Given the description of an element on the screen output the (x, y) to click on. 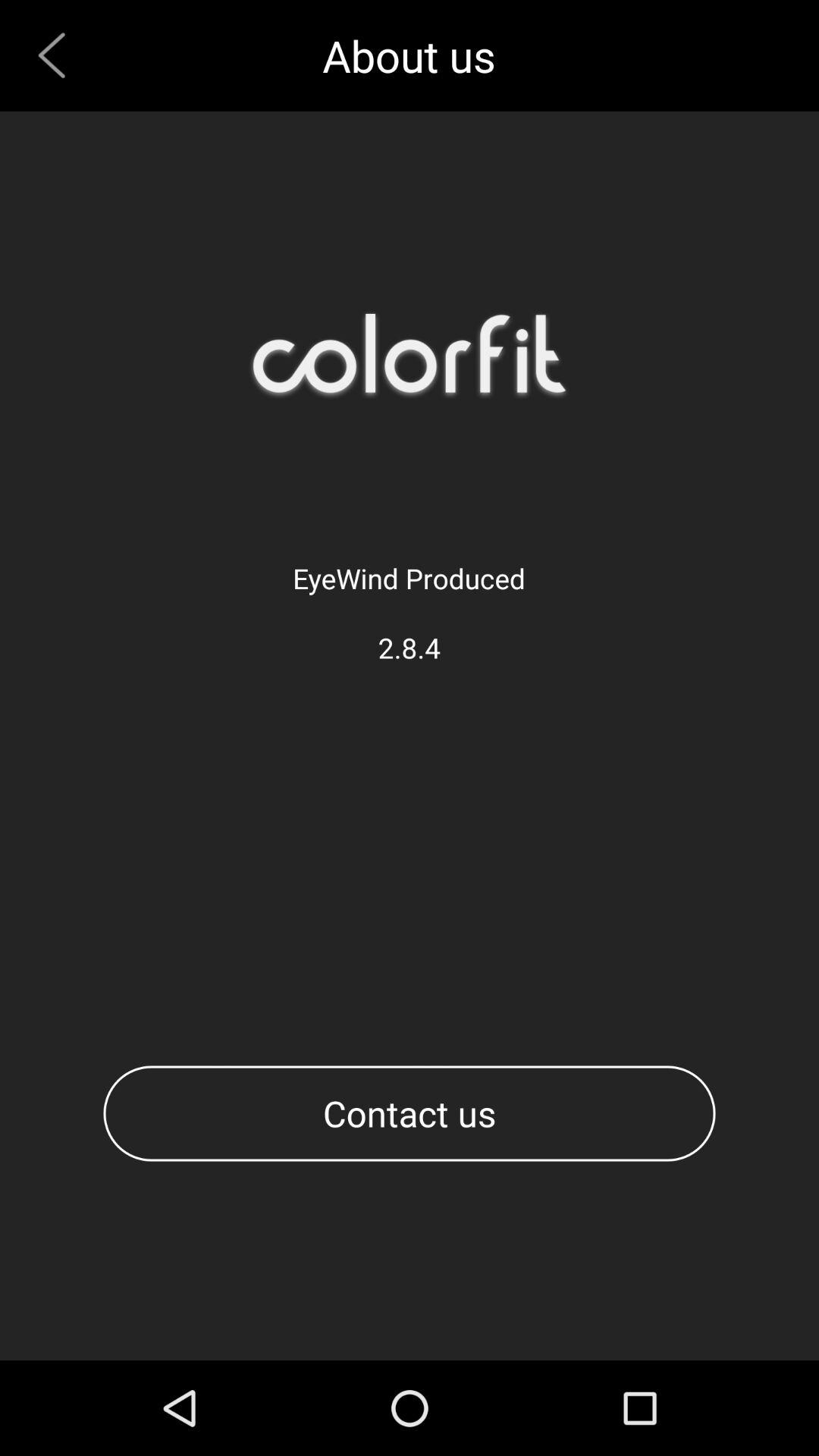
turn off icon next to the about us icon (57, 55)
